Given the description of an element on the screen output the (x, y) to click on. 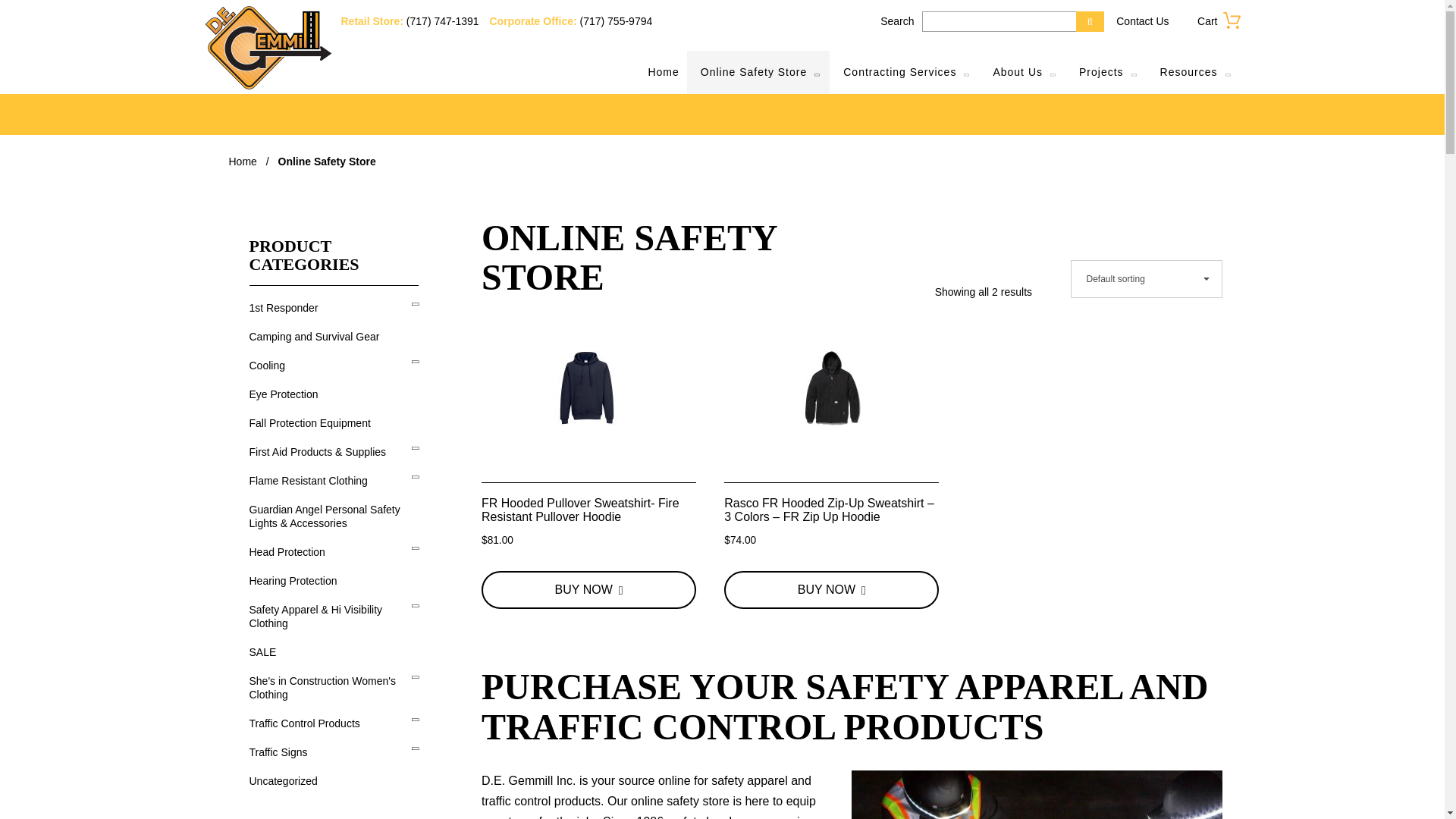
Portwest FR Hooded Pullover Navy (589, 387)
Home (662, 71)
Online Safety Store (758, 71)
Contracting Services (903, 71)
